Given the description of an element on the screen output the (x, y) to click on. 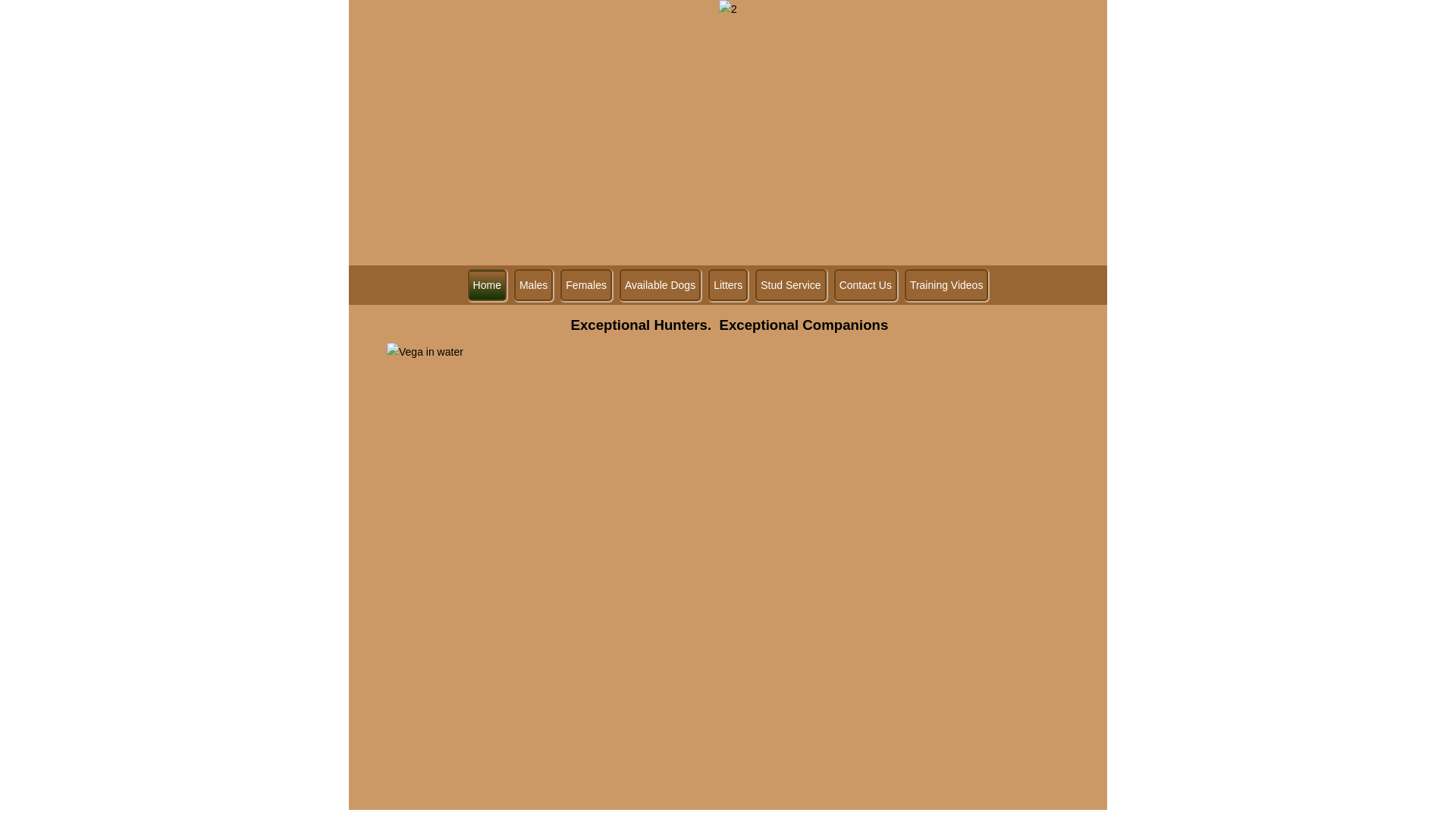
Stud Service Element type: text (790, 285)
Training Videos Element type: text (946, 285)
Contact Us Element type: text (865, 285)
Available Dogs Element type: text (659, 285)
Home Element type: text (486, 285)
Litters Element type: text (727, 285)
Females Element type: text (585, 285)
Males Element type: text (533, 285)
